Given the description of an element on the screen output the (x, y) to click on. 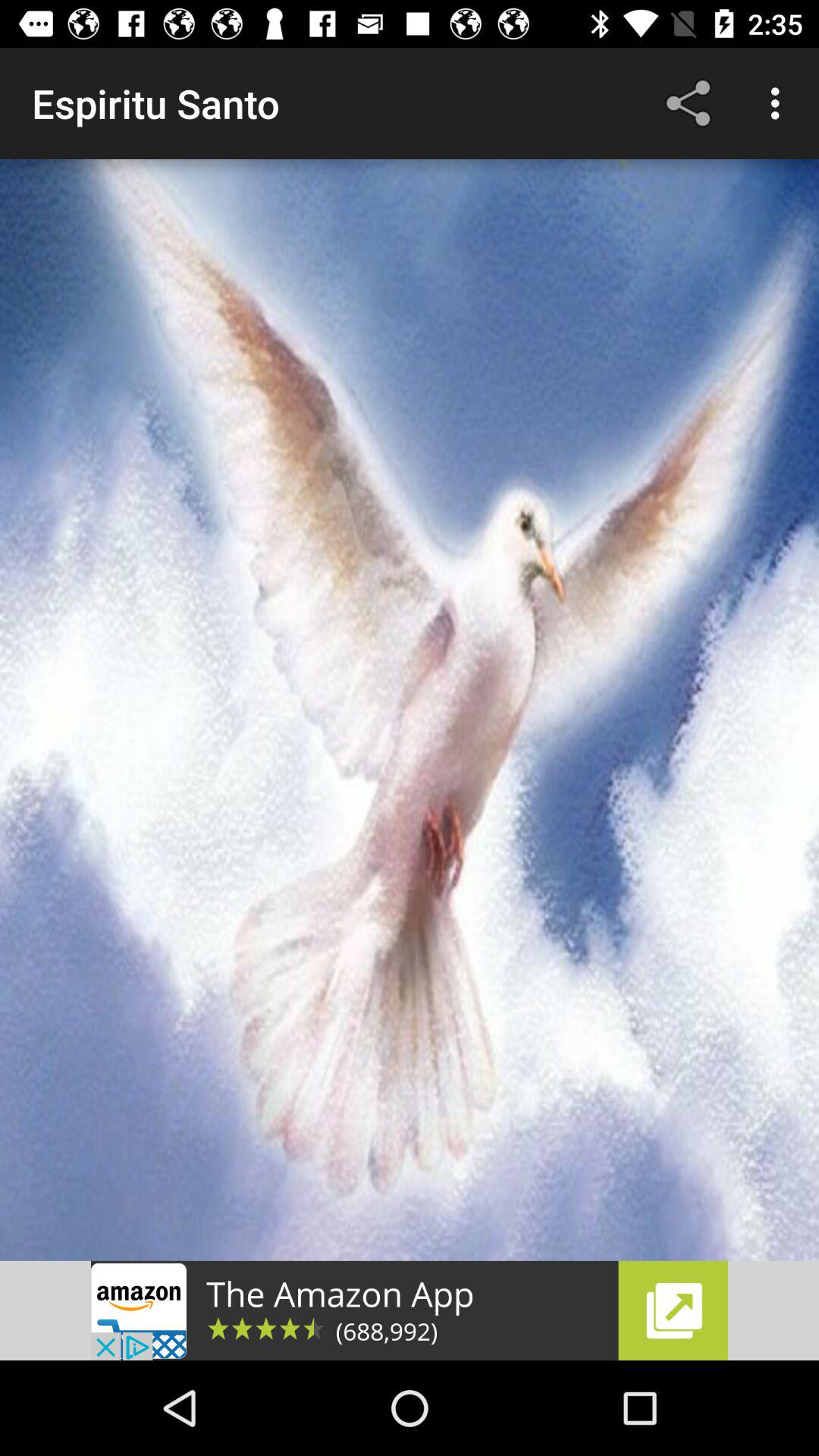
go to external advertisement (409, 1310)
